Given the description of an element on the screen output the (x, y) to click on. 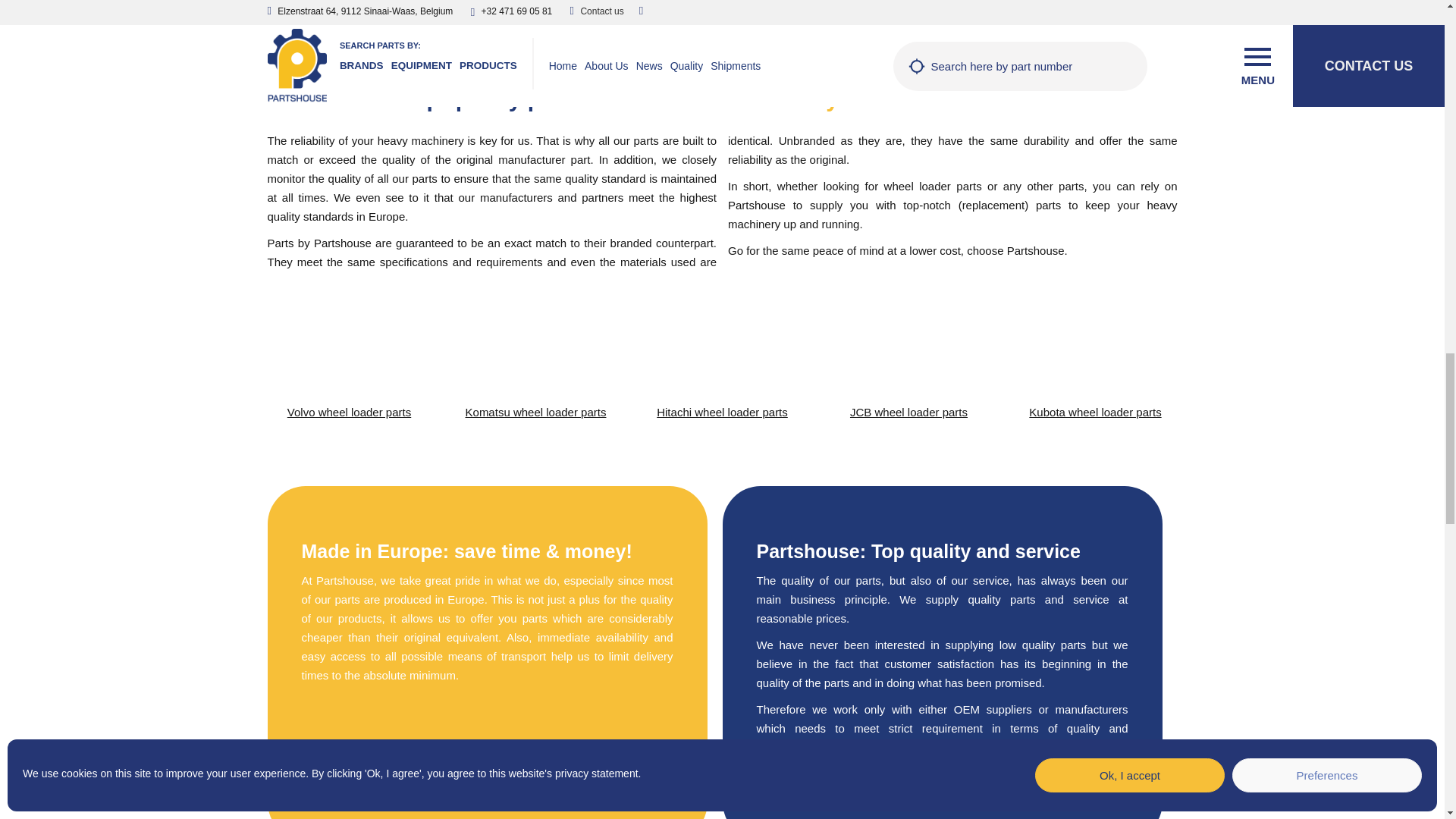
JCB-wheel-loader-parts-Partshouse (908, 355)
Hitachi-wheel-loader-parts-Partshouse (721, 355)
Komatsu-wheel-loader-parts-Partshouse (534, 355)
Partshouse-quality-controls (691, 806)
Kubota-wheel-loader-parts-Partshouse (1094, 355)
Volvo-excavator-loader-parts (348, 355)
